Given the description of an element on the screen output the (x, y) to click on. 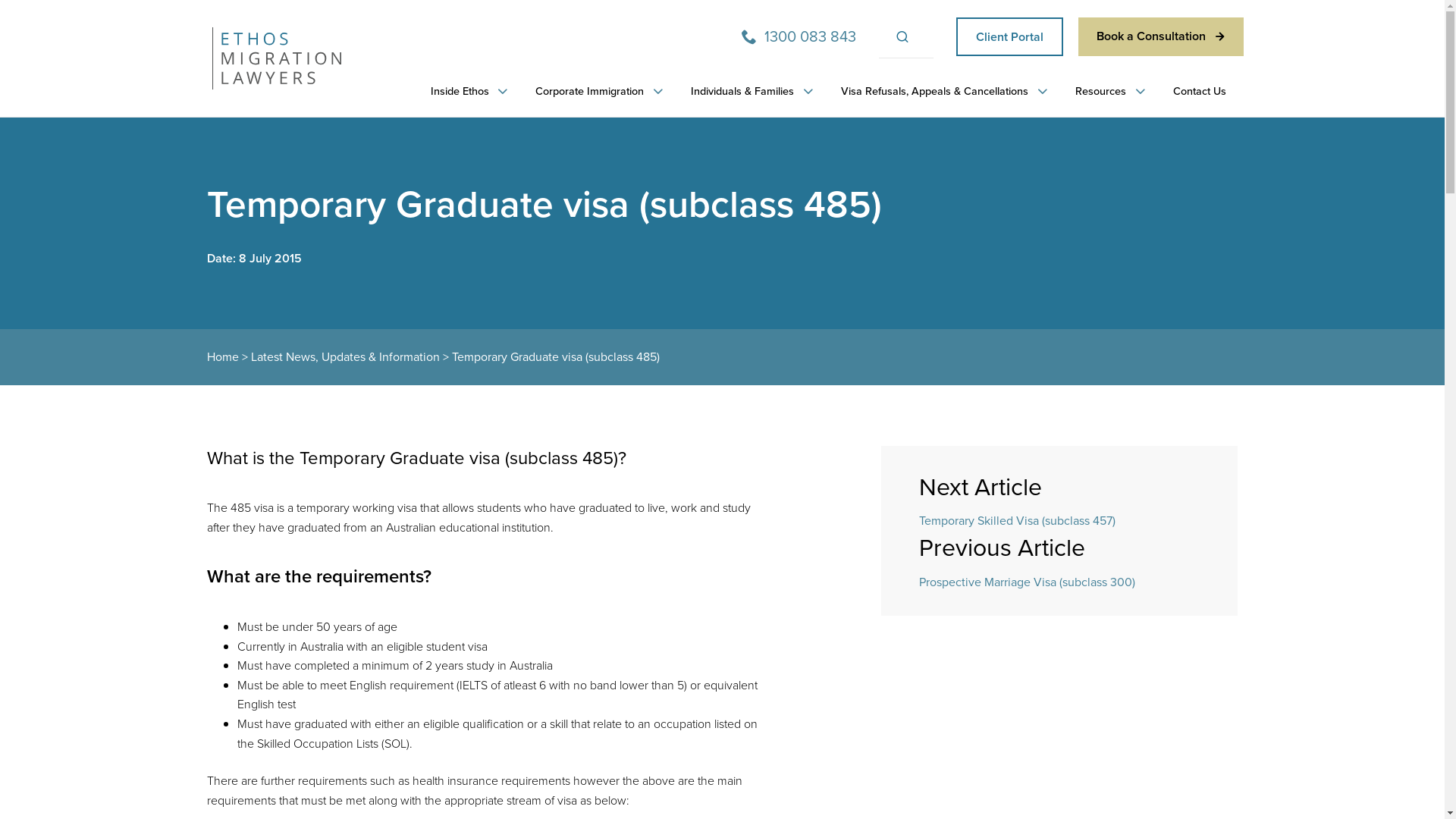
Client Portal Element type: text (1009, 36)
Contact Us Element type: text (1197, 91)
Individuals & Families Element type: text (746, 91)
1300 083 843 Element type: text (798, 36)
Temporary Skilled Visa (subclass 457) Element type: text (1017, 520)
Corporate Immigration Element type: text (593, 91)
Home Element type: text (222, 356)
Prospective Marriage Visa (subclass 300) Element type: text (1027, 581)
Latest News, Updates & Information Element type: text (344, 356)
Book a Consultation Element type: text (1160, 36)
Resources Element type: text (1104, 91)
Inside Ethos Element type: text (464, 91)
Search Element type: text (860, 36)
Visa Refusals, Appeals & Cancellations Element type: text (938, 91)
Logo Element type: hover (276, 58)
